Given the description of an element on the screen output the (x, y) to click on. 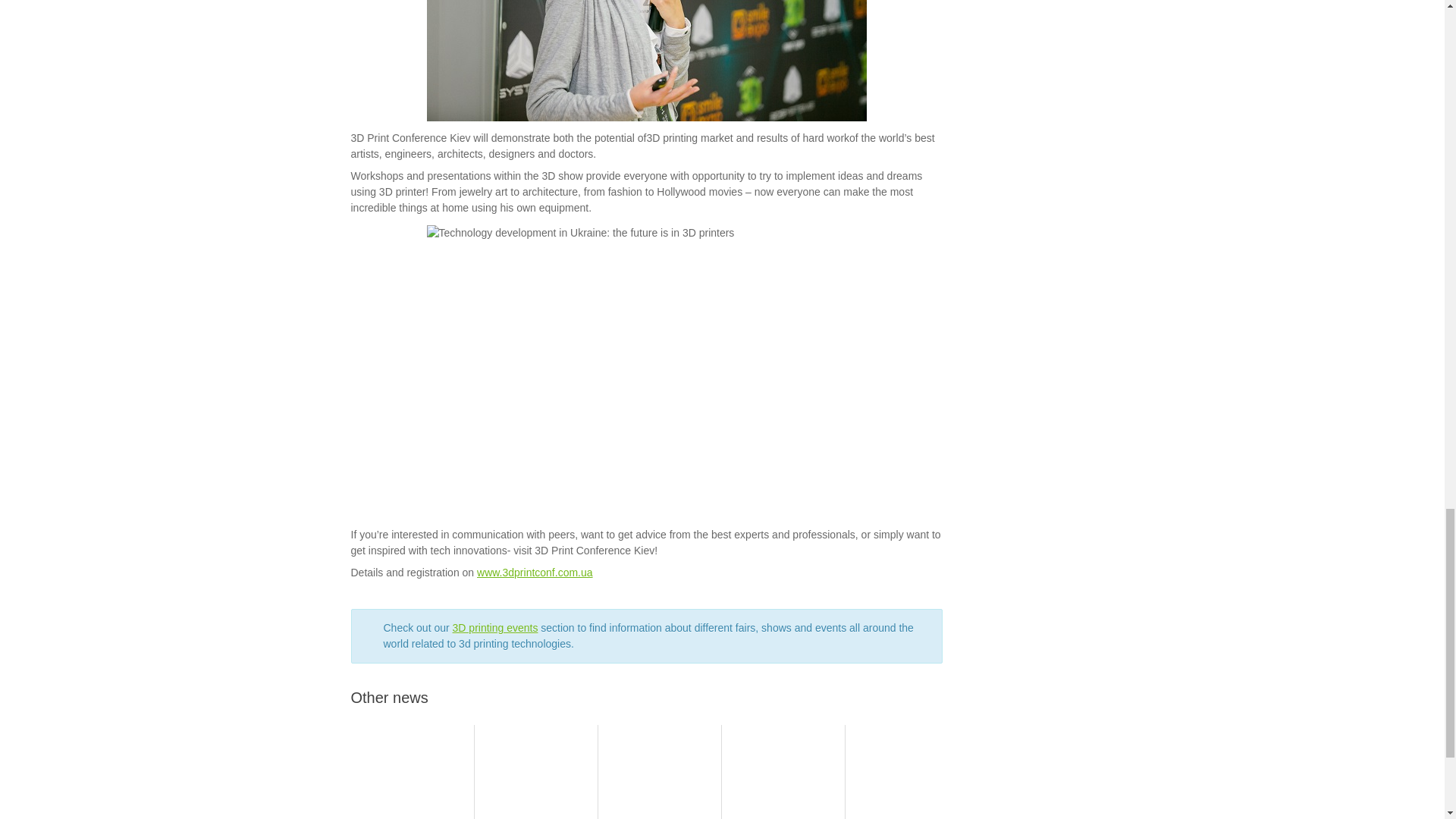
3D Print Conference Kiev (534, 572)
New popularity of 3D technology (783, 771)
3D printing events (495, 627)
www.3dprintconf.com.ua (534, 572)
